Given the description of an element on the screen output the (x, y) to click on. 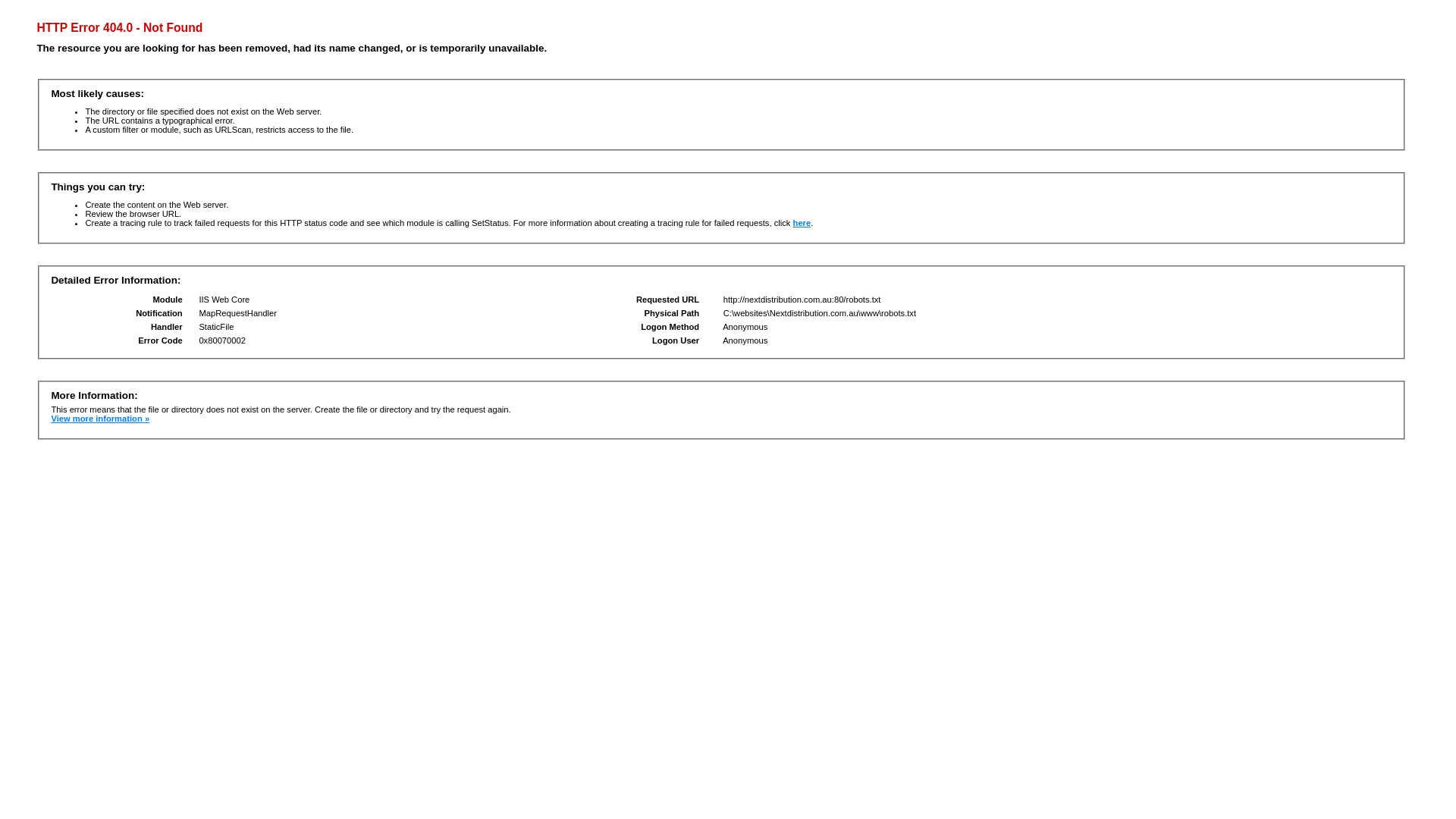
here Element type: text (802, 222)
